Given the description of an element on the screen output the (x, y) to click on. 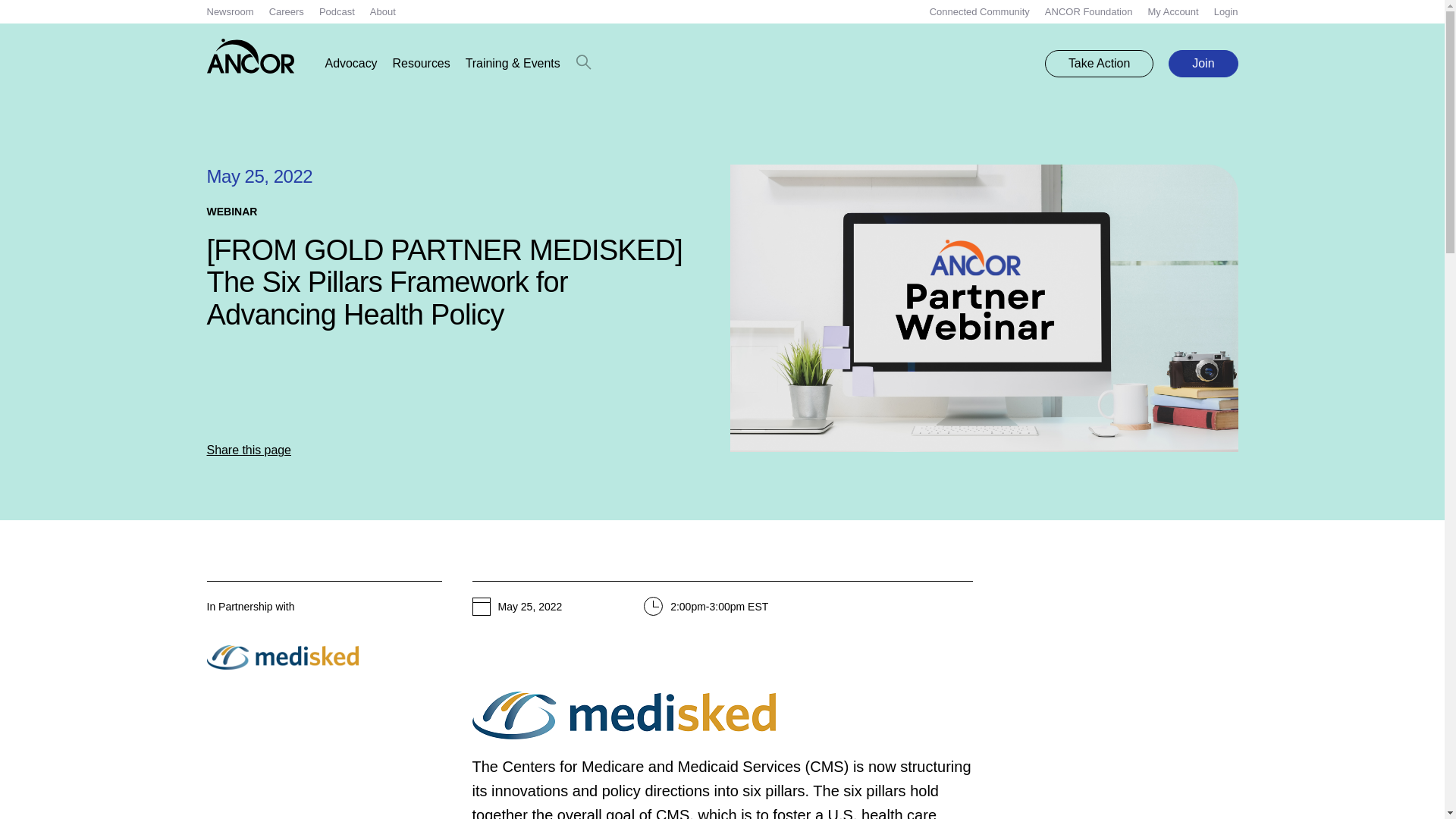
Advocacy (350, 63)
Take Action (1099, 62)
Connected Community (979, 11)
My Account (1172, 11)
Join (1203, 62)
Login (1226, 11)
About (382, 11)
ANCOR Foundation (1088, 11)
Careers (286, 11)
Resources (421, 63)
